Given the description of an element on the screen output the (x, y) to click on. 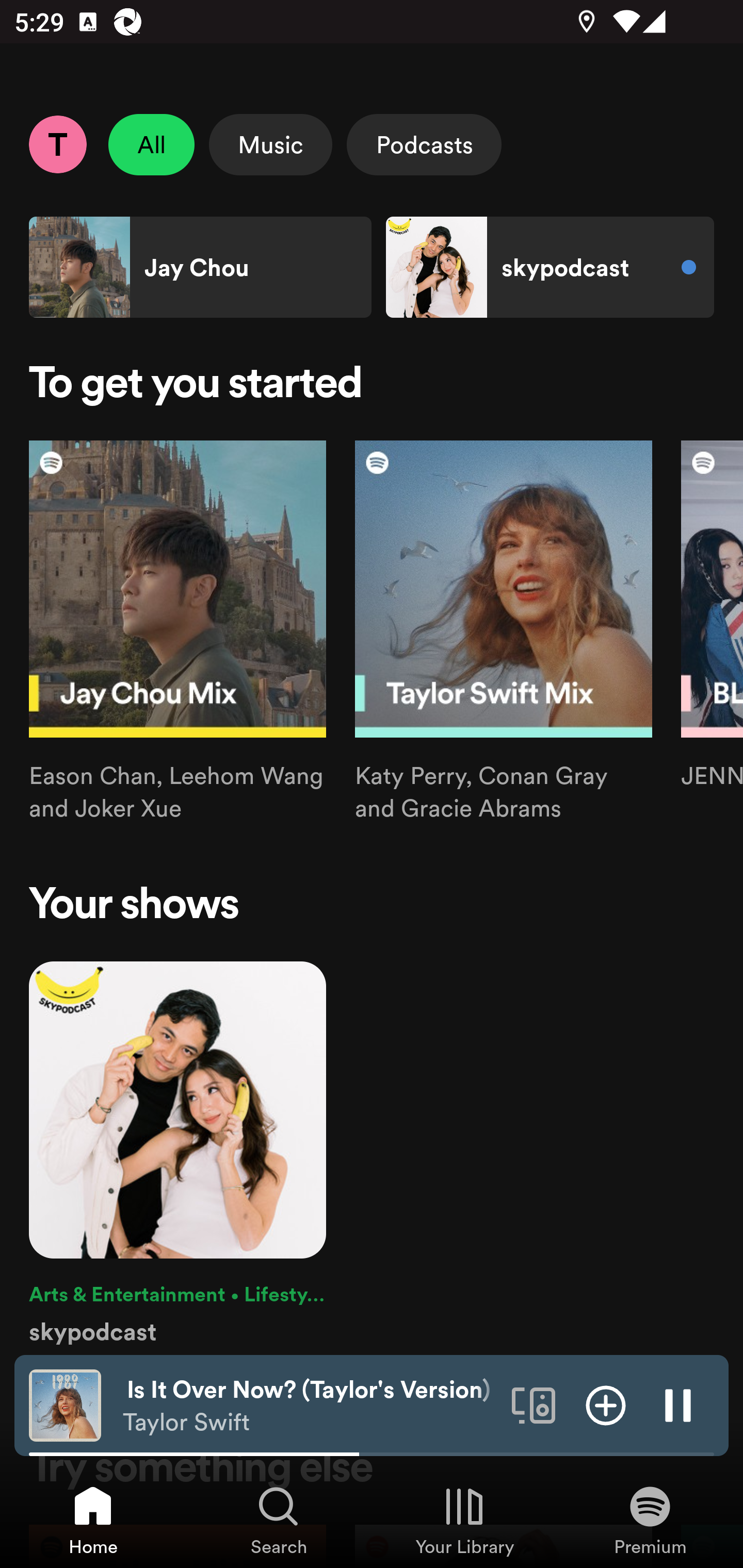
Profile (57, 144)
All Unselect All (151, 144)
Music Select Music (270, 144)
Podcasts Select Podcasts (423, 144)
Jay Chou Shortcut Jay Chou (199, 267)
skypodcast Shortcut skypodcast New content (549, 267)
The cover art of the currently playing track (64, 1404)
Connect to a device. Opens the devices menu (533, 1404)
Add item (605, 1404)
Pause (677, 1404)
Home, Tab 1 of 4 Home Home (92, 1519)
Search, Tab 2 of 4 Search Search (278, 1519)
Your Library, Tab 3 of 4 Your Library Your Library (464, 1519)
Premium, Tab 4 of 4 Premium Premium (650, 1519)
